Given the description of an element on the screen output the (x, y) to click on. 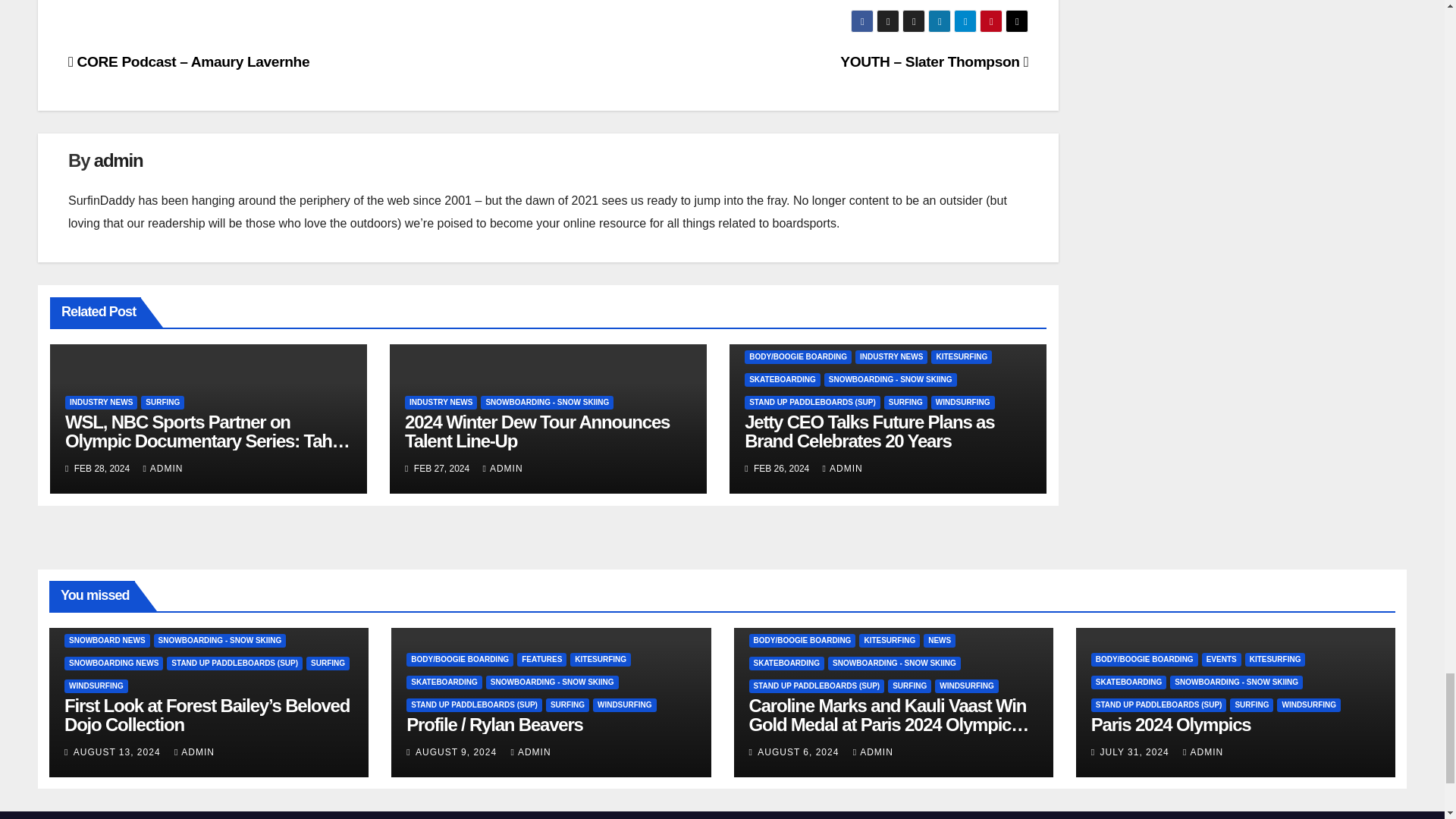
admin (118, 159)
INDUSTRY NEWS (100, 402)
SURFING (162, 402)
Permalink to: 2024 Winter Dew Tour Announces Talent Line-Up (536, 431)
